Given the description of an element on the screen output the (x, y) to click on. 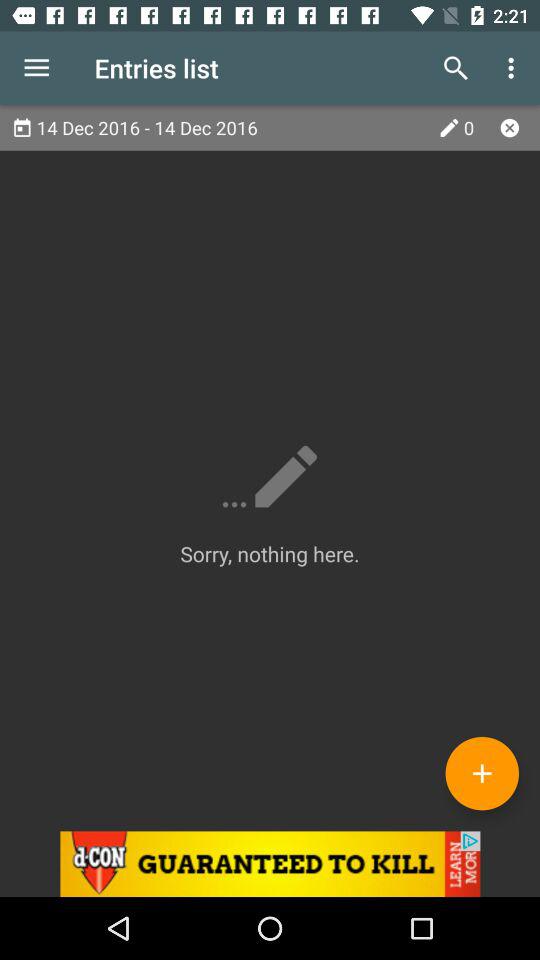
go to advertisement (270, 864)
